Given the description of an element on the screen output the (x, y) to click on. 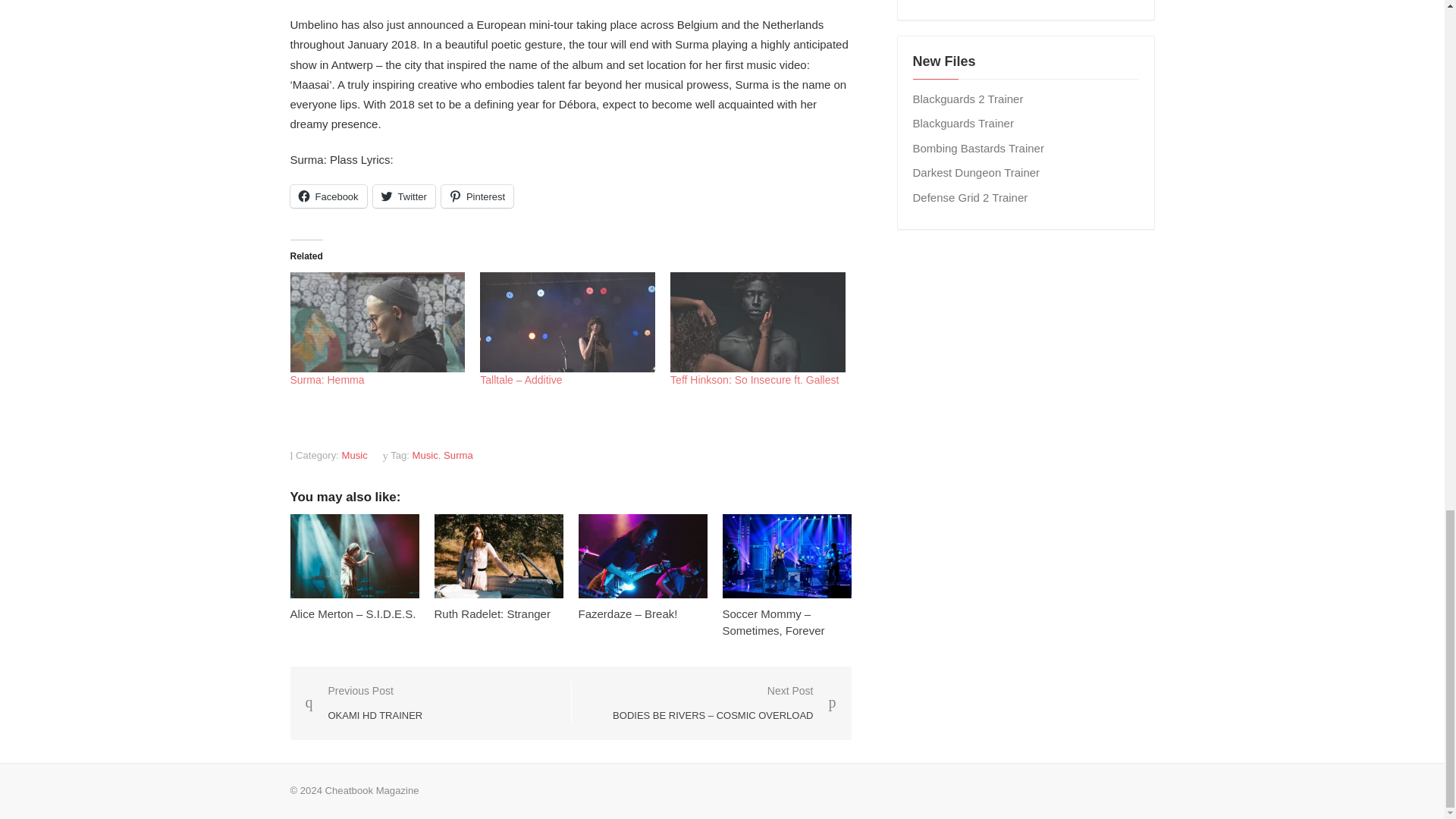
Teff Hinkson: So Insecure ft. Gallest (753, 379)
Surma: Hemma (326, 379)
Facebook (327, 196)
Ruth Radelet: Stranger (491, 613)
Click to share on Facebook (327, 196)
Pinterest (477, 196)
Click to share on Pinterest (477, 196)
Surma: Hemma (326, 379)
Surma: Hemma (376, 321)
Surma (458, 455)
Music (355, 455)
Click to share on Twitter (403, 196)
Teff Hinkson: So Insecure ft. Gallest (753, 379)
Twitter (403, 196)
Teff Hinkson: So Insecure ft. Gallest (757, 321)
